Given the description of an element on the screen output the (x, y) to click on. 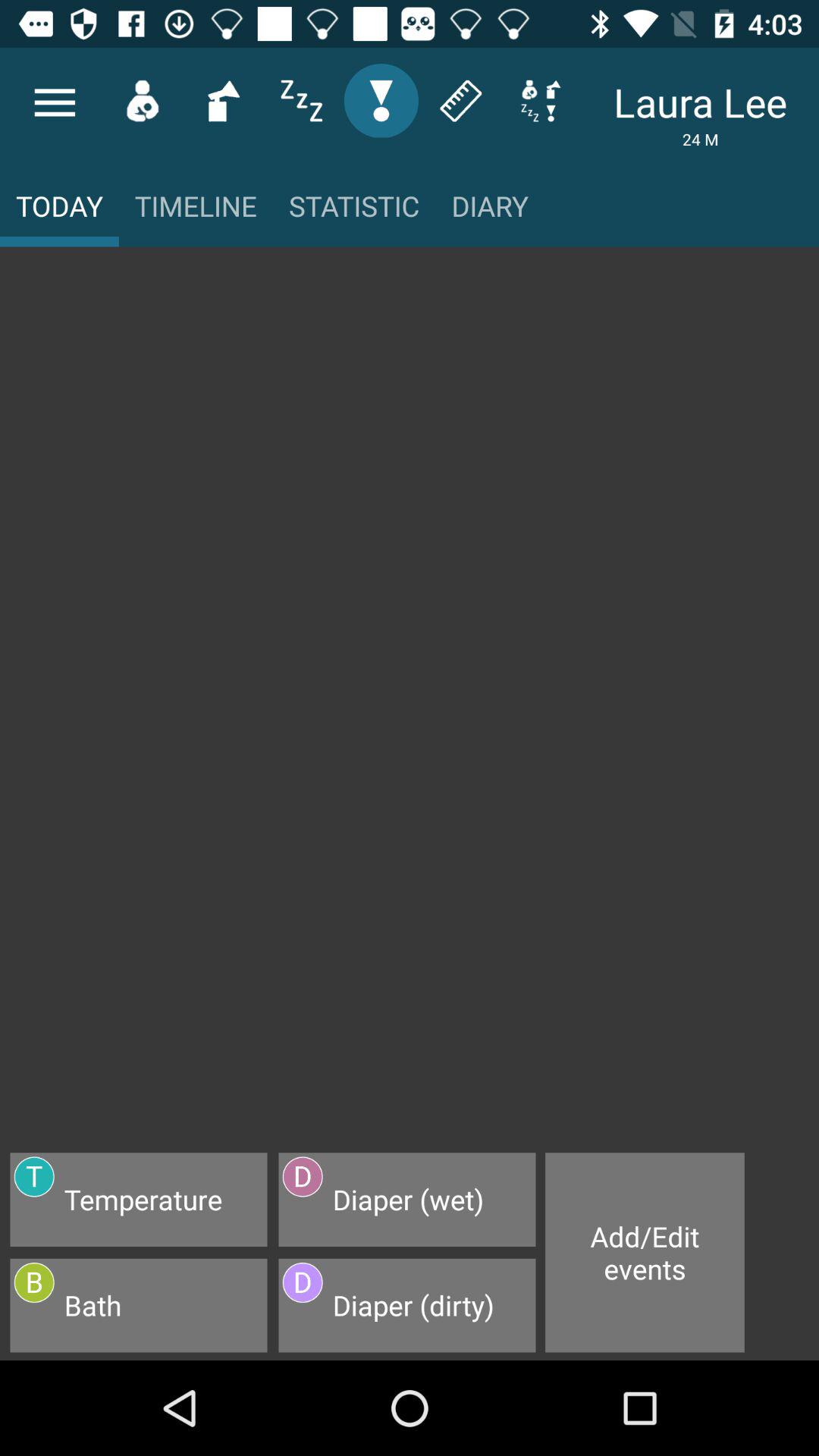
tap item at the bottom right corner (644, 1252)
